Given the description of an element on the screen output the (x, y) to click on. 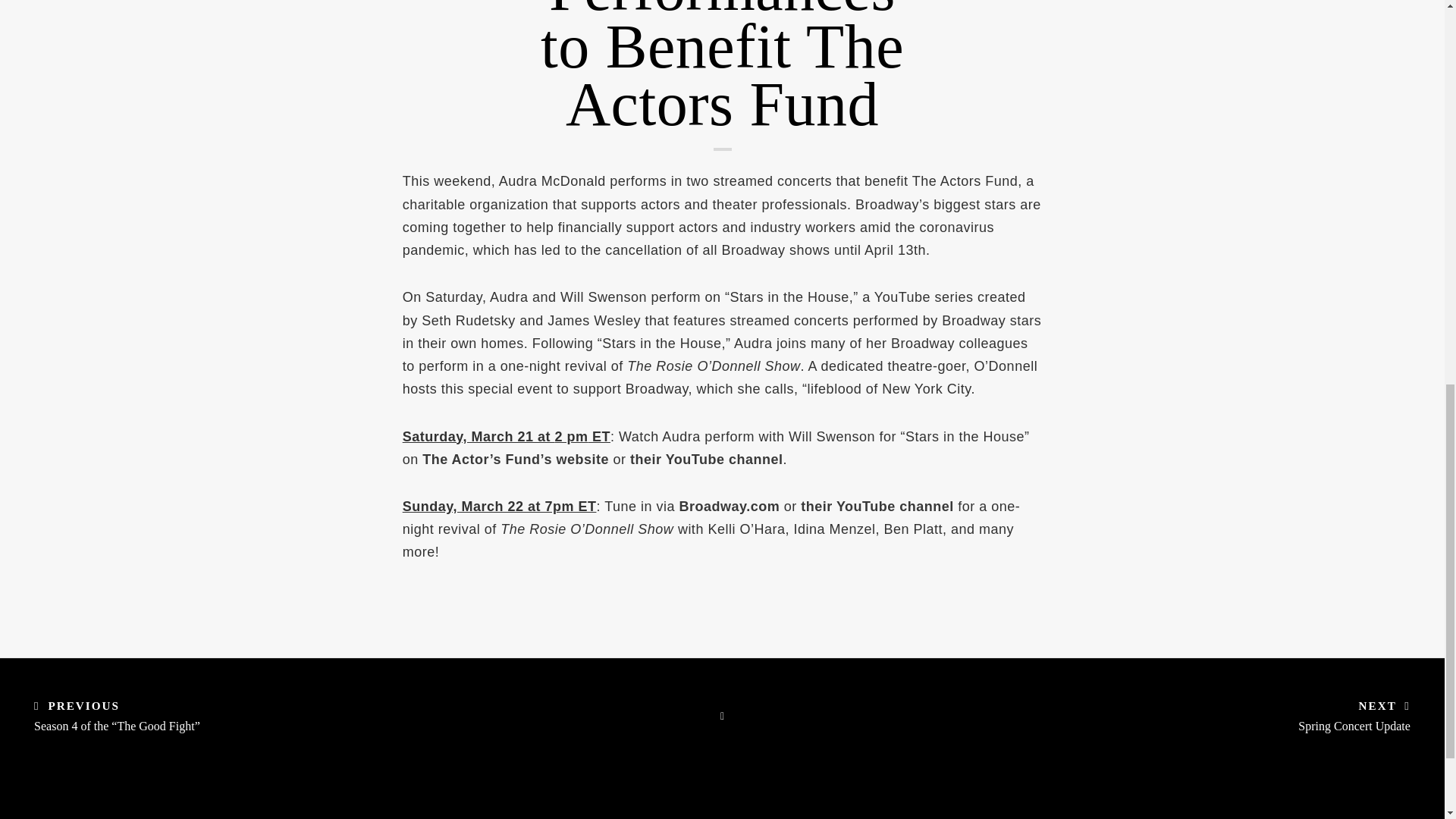
Back to the top (1412, 117)
their YouTube channel (706, 459)
Main Page (721, 715)
Broadway.com (729, 506)
their YouTube channel (876, 506)
